Given the description of an element on the screen output the (x, y) to click on. 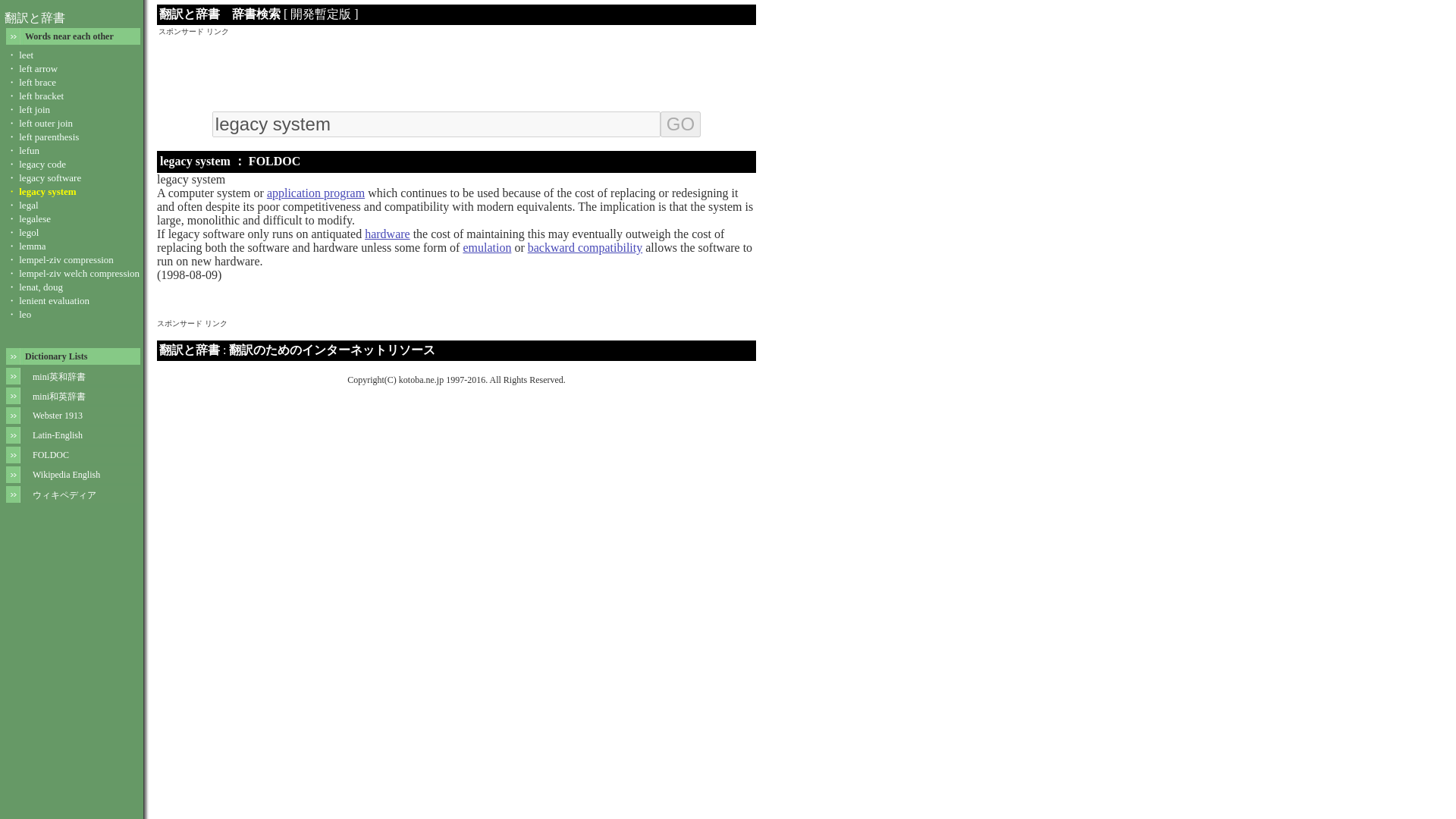
emulation (487, 246)
hardware (387, 233)
FOLDOC (50, 454)
backward compatibility (585, 246)
Advertisement (433, 334)
GO (680, 124)
Wikipedia English (66, 474)
application program (315, 192)
legacy system (436, 124)
Latin-English (57, 434)
Webster 1913 (57, 415)
Advertisement (456, 70)
